Given the description of an element on the screen output the (x, y) to click on. 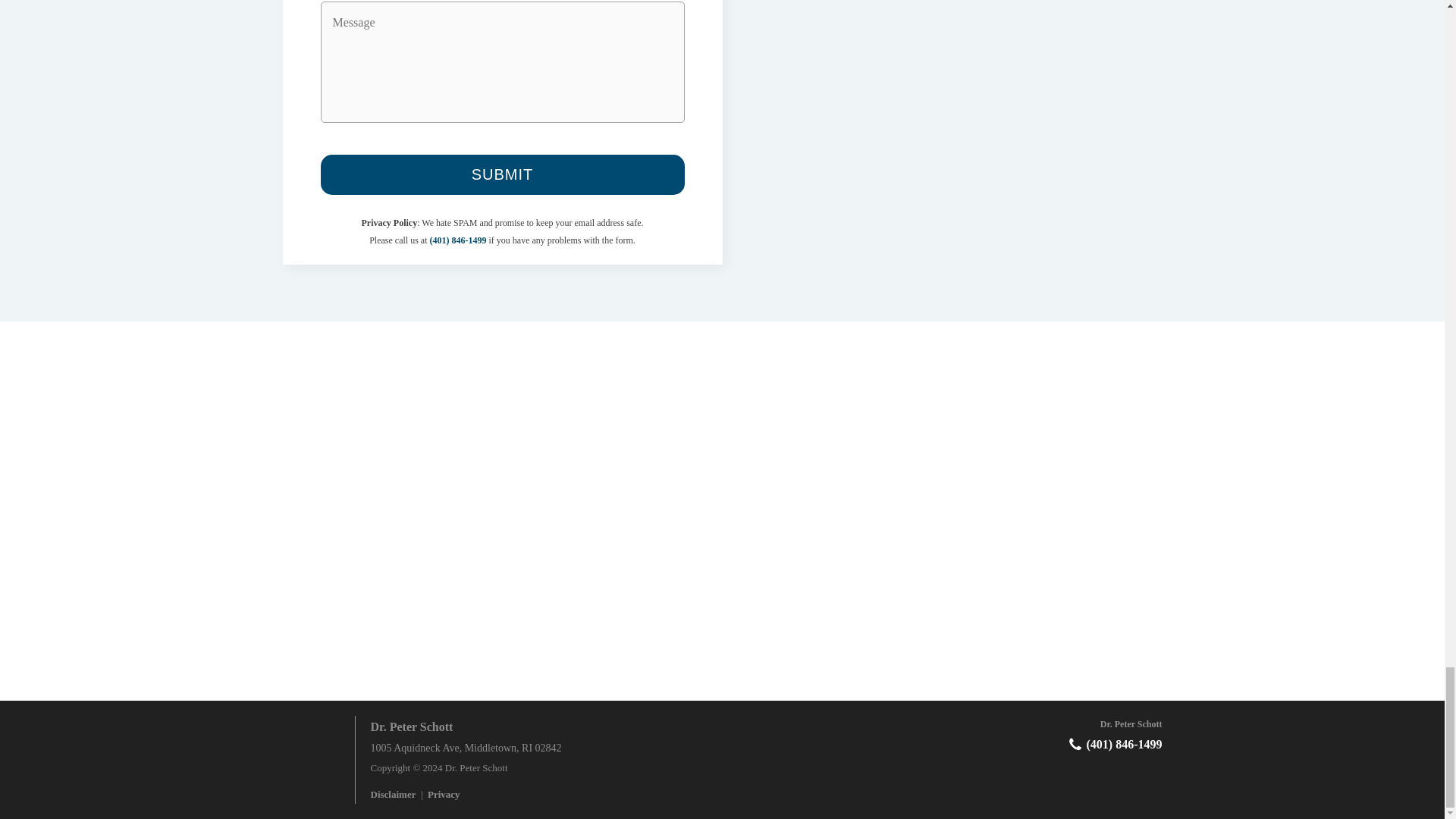
Submit (502, 174)
